Given the description of an element on the screen output the (x, y) to click on. 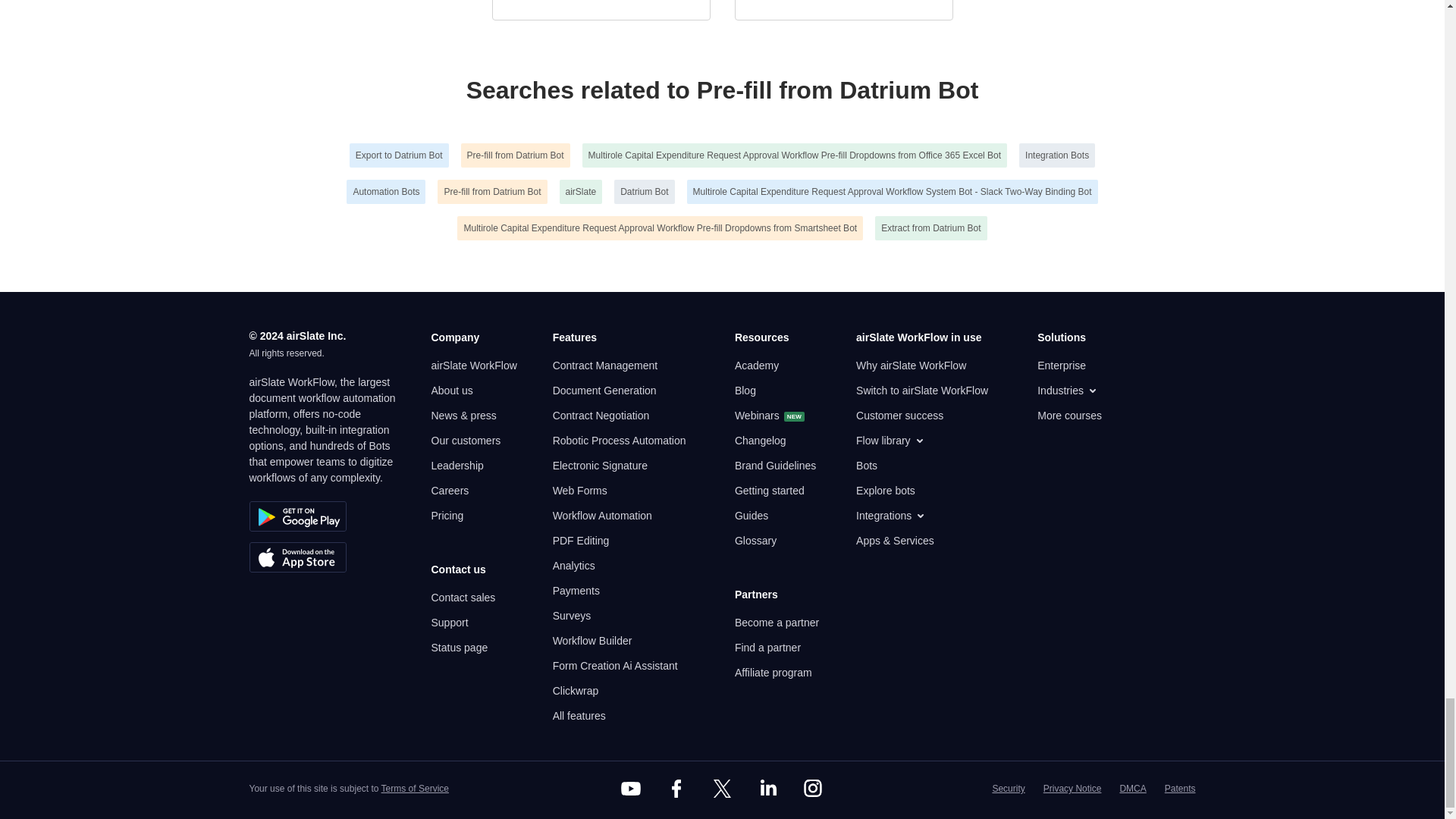
Facebook (676, 788)
YouTube (630, 788)
Twitter (721, 788)
Instagram (812, 788)
LinkedIn (767, 788)
